Given the description of an element on the screen output the (x, y) to click on. 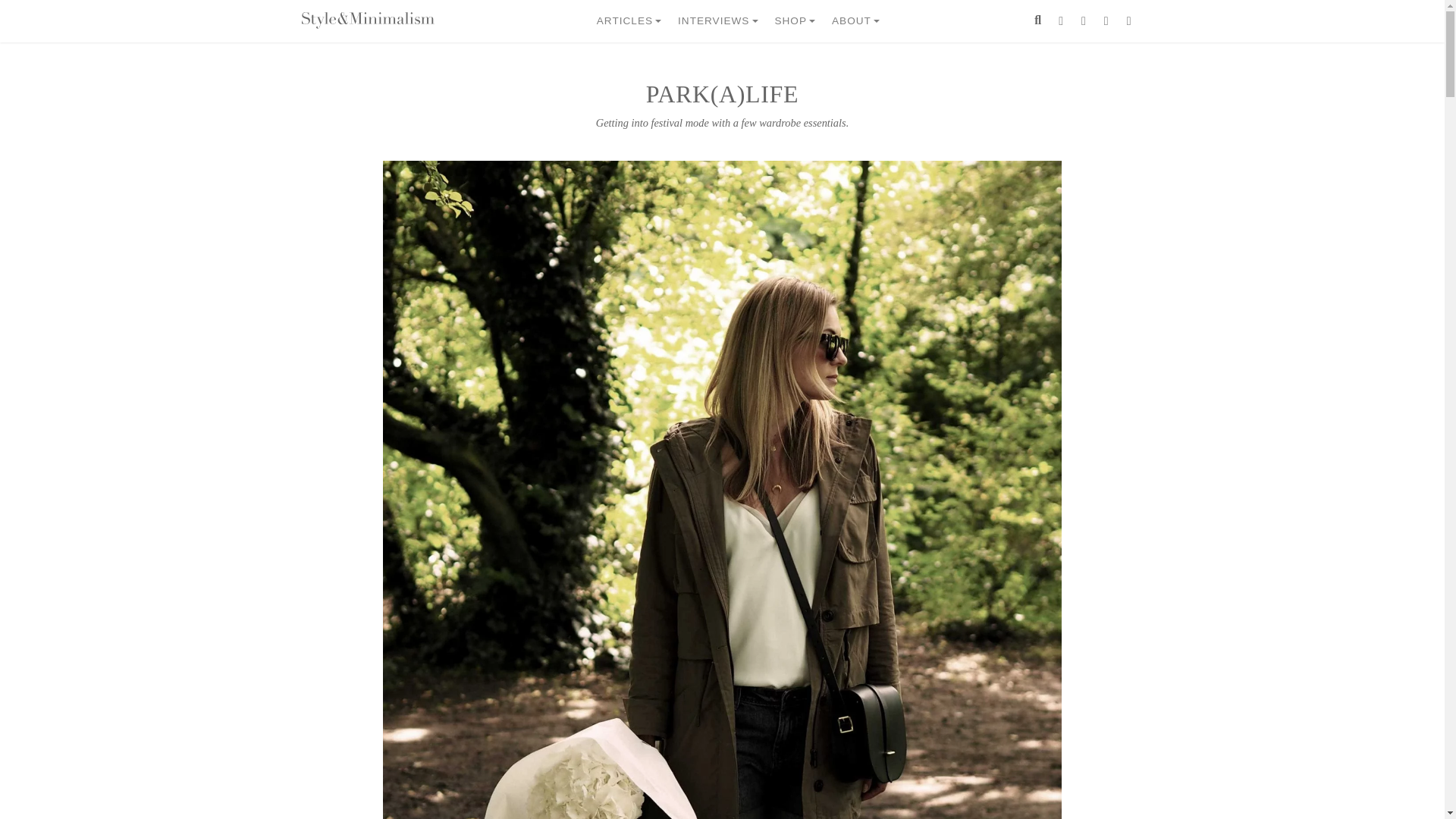
INTERVIEWS (719, 21)
ABOUT (857, 21)
Articles (631, 21)
Shop (796, 21)
Interviews (719, 21)
ARTICLES (631, 21)
SHOP (796, 21)
